Given the description of an element on the screen output the (x, y) to click on. 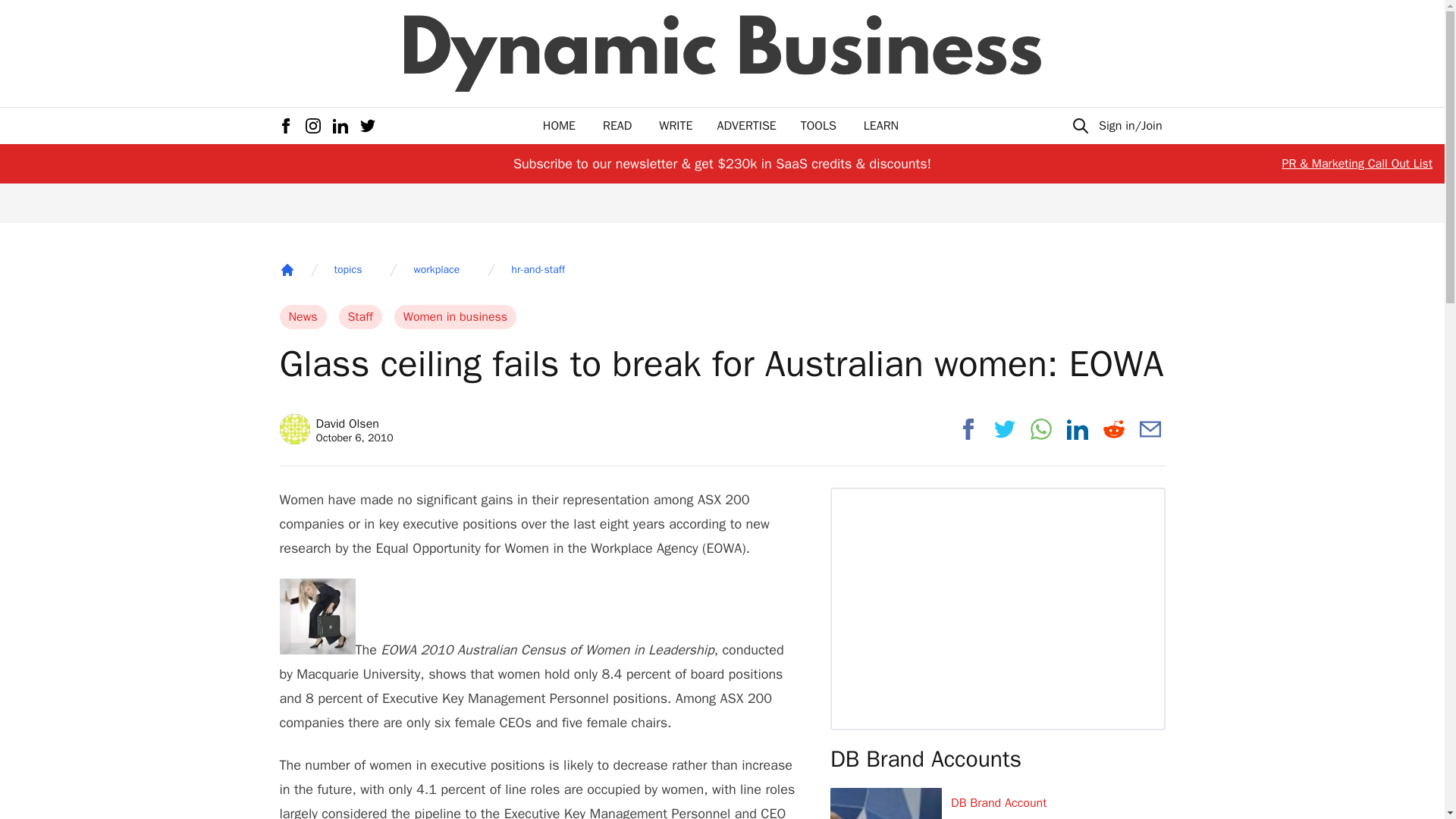
Staff (360, 316)
workplace (336, 429)
HOME (436, 269)
WRITE (559, 126)
News (676, 126)
Women in business (302, 316)
TOOLS (455, 316)
topics (817, 126)
ADVERTISE (347, 269)
LEARN (746, 126)
READ (880, 126)
Home (616, 126)
hr-and-staff (286, 269)
